Given the description of an element on the screen output the (x, y) to click on. 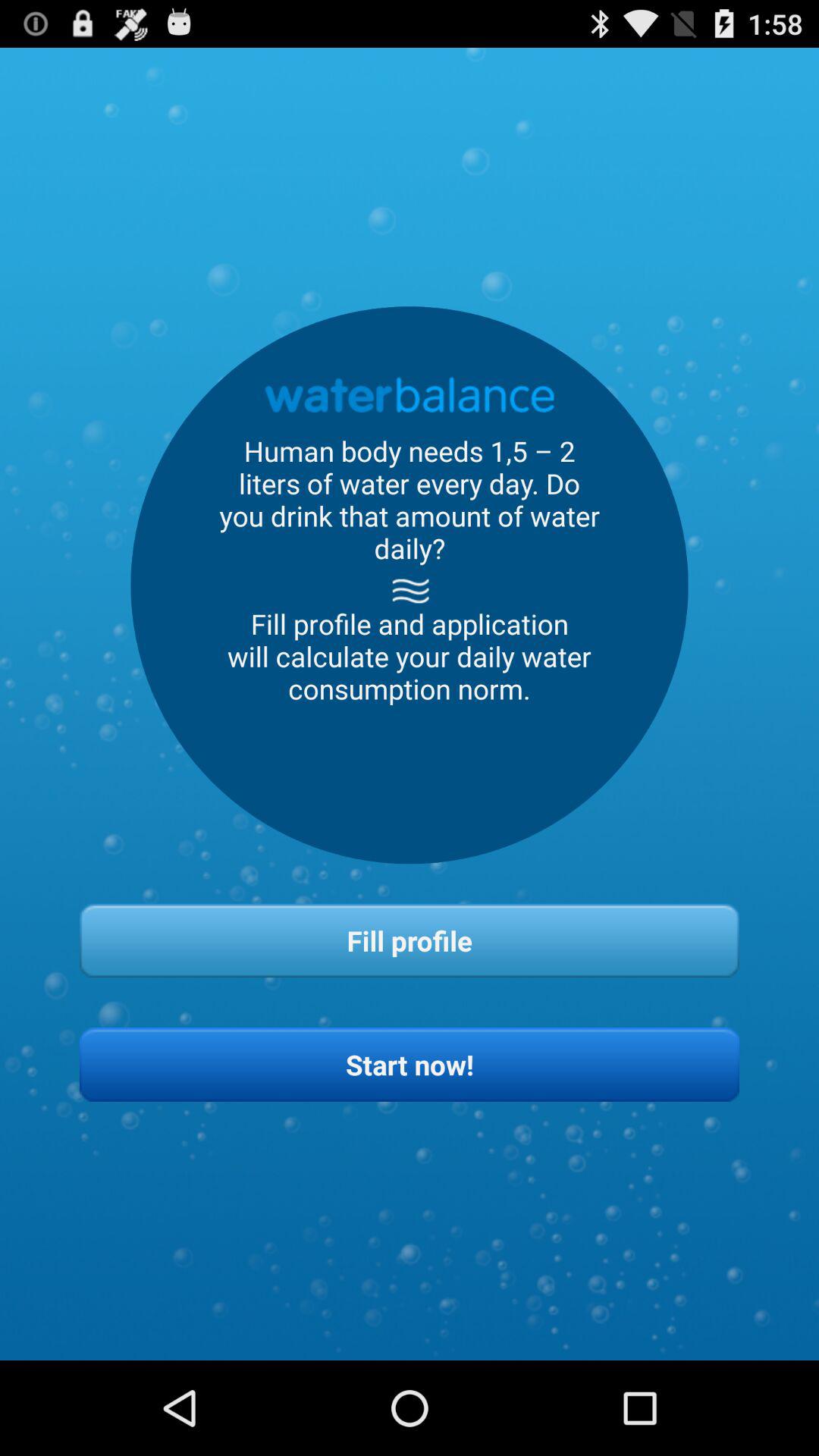
select button below the fill profile item (409, 1064)
